Given the description of an element on the screen output the (x, y) to click on. 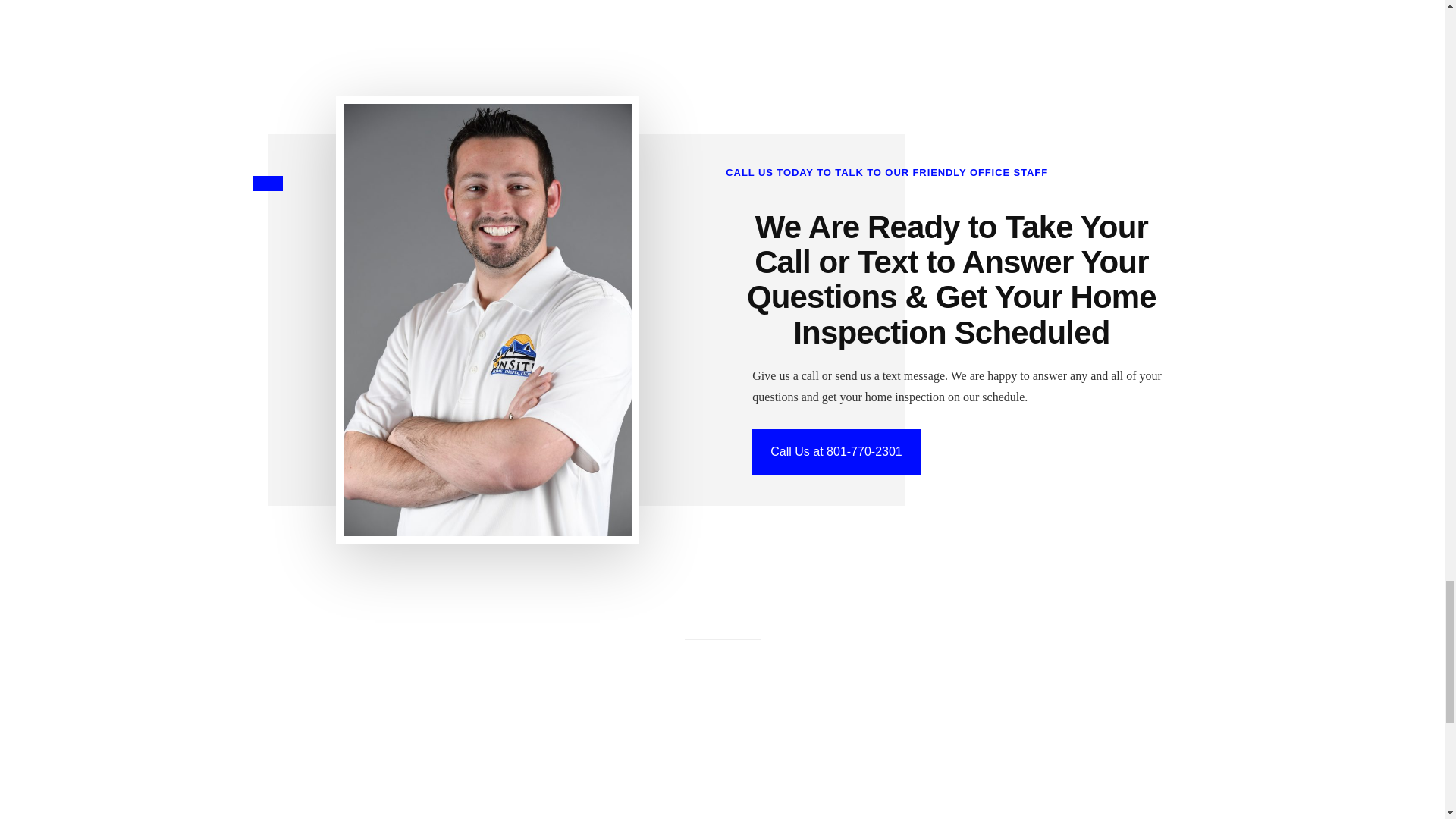
Call Us at 801-770-2301 (836, 452)
